Given the description of an element on the screen output the (x, y) to click on. 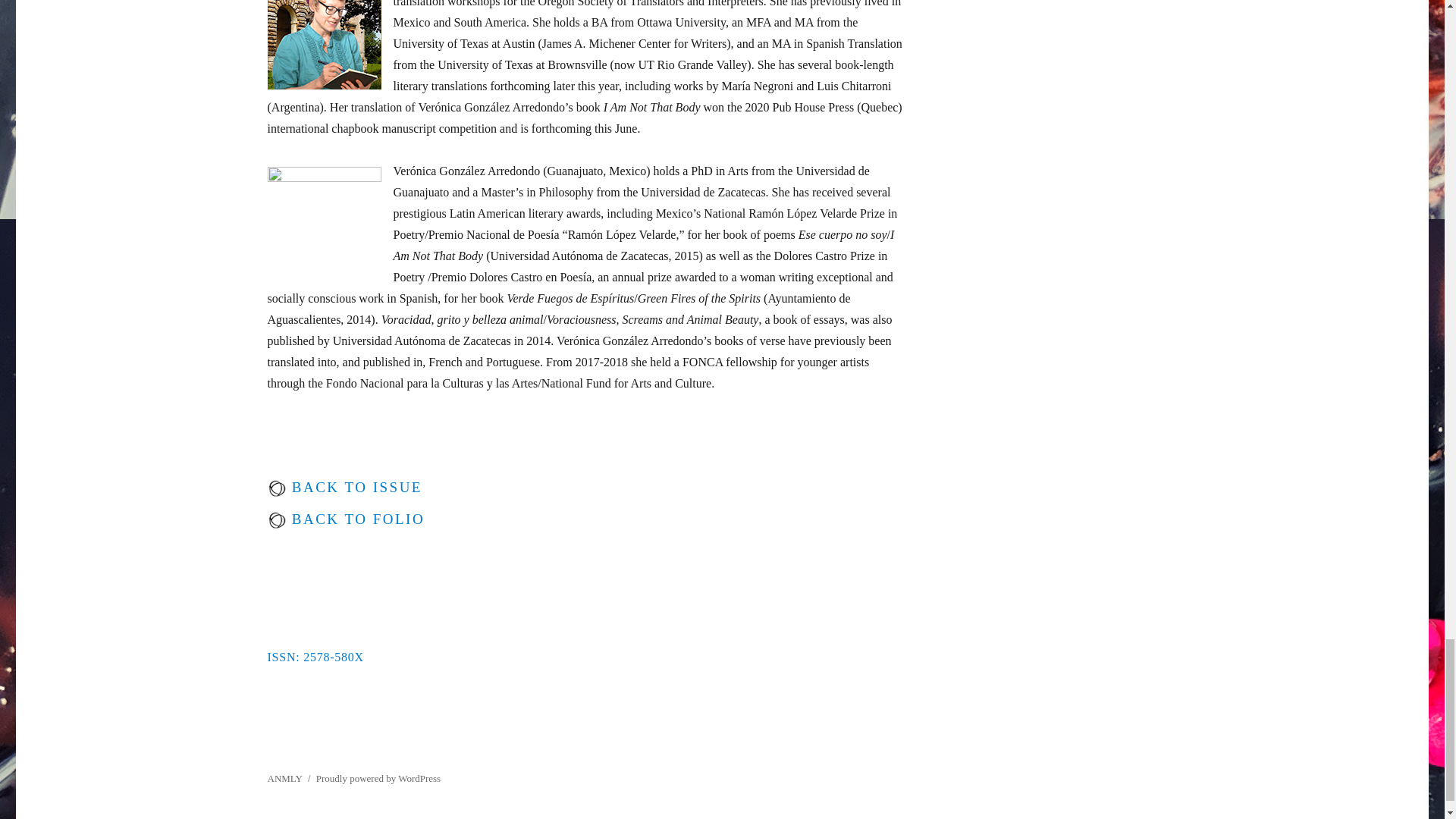
 BACK TO ISSUE (354, 487)
 BACK TO FOLIO (355, 519)
